Given the description of an element on the screen output the (x, y) to click on. 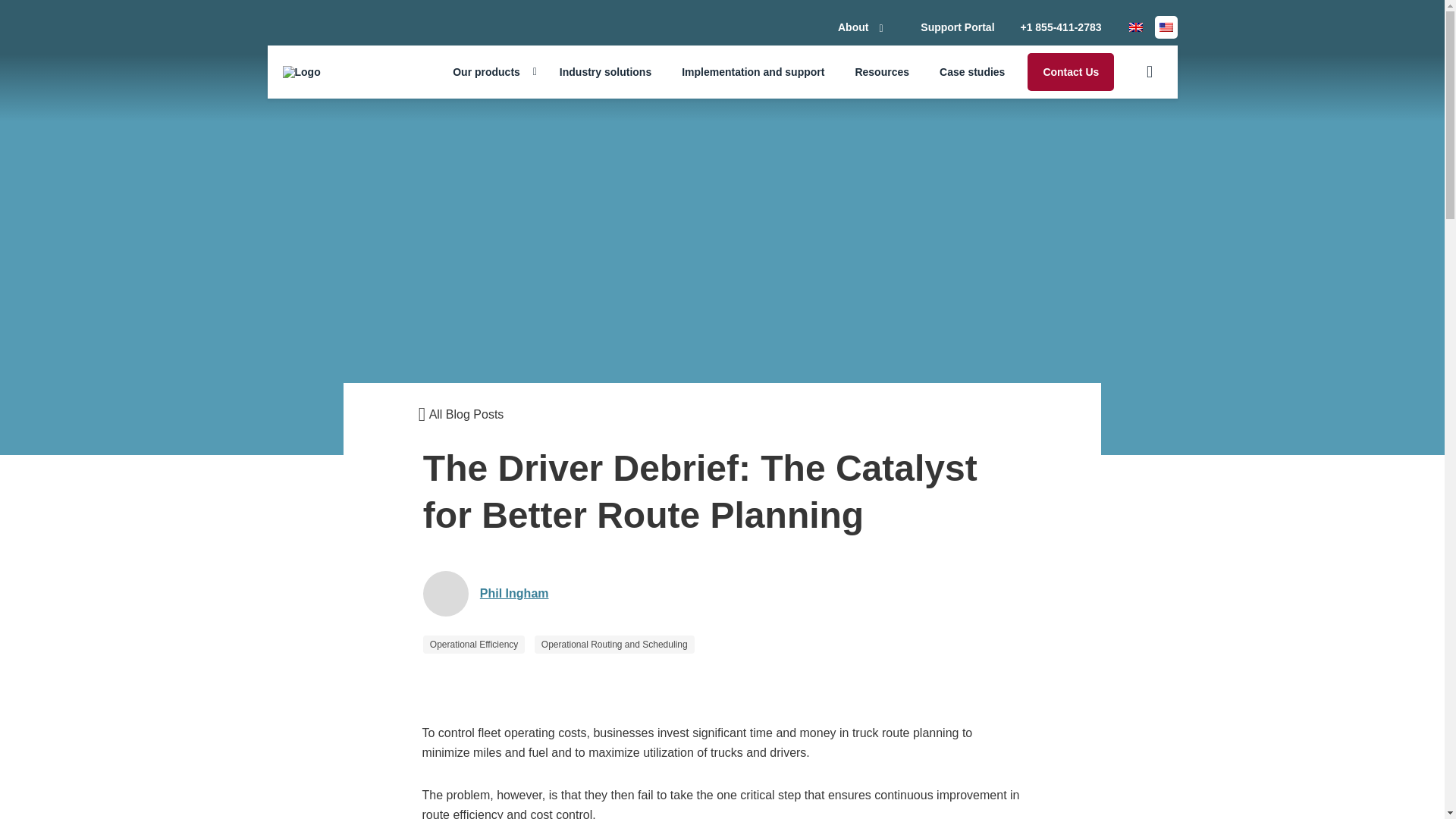
Our products (491, 71)
Implementation and support (753, 71)
Industry solutions (605, 71)
Support Portal (957, 26)
English - GB (1134, 26)
Contact Us (1070, 71)
About (866, 27)
Case studies (972, 71)
English - US (1165, 26)
Resources (882, 71)
